Given the description of an element on the screen output the (x, y) to click on. 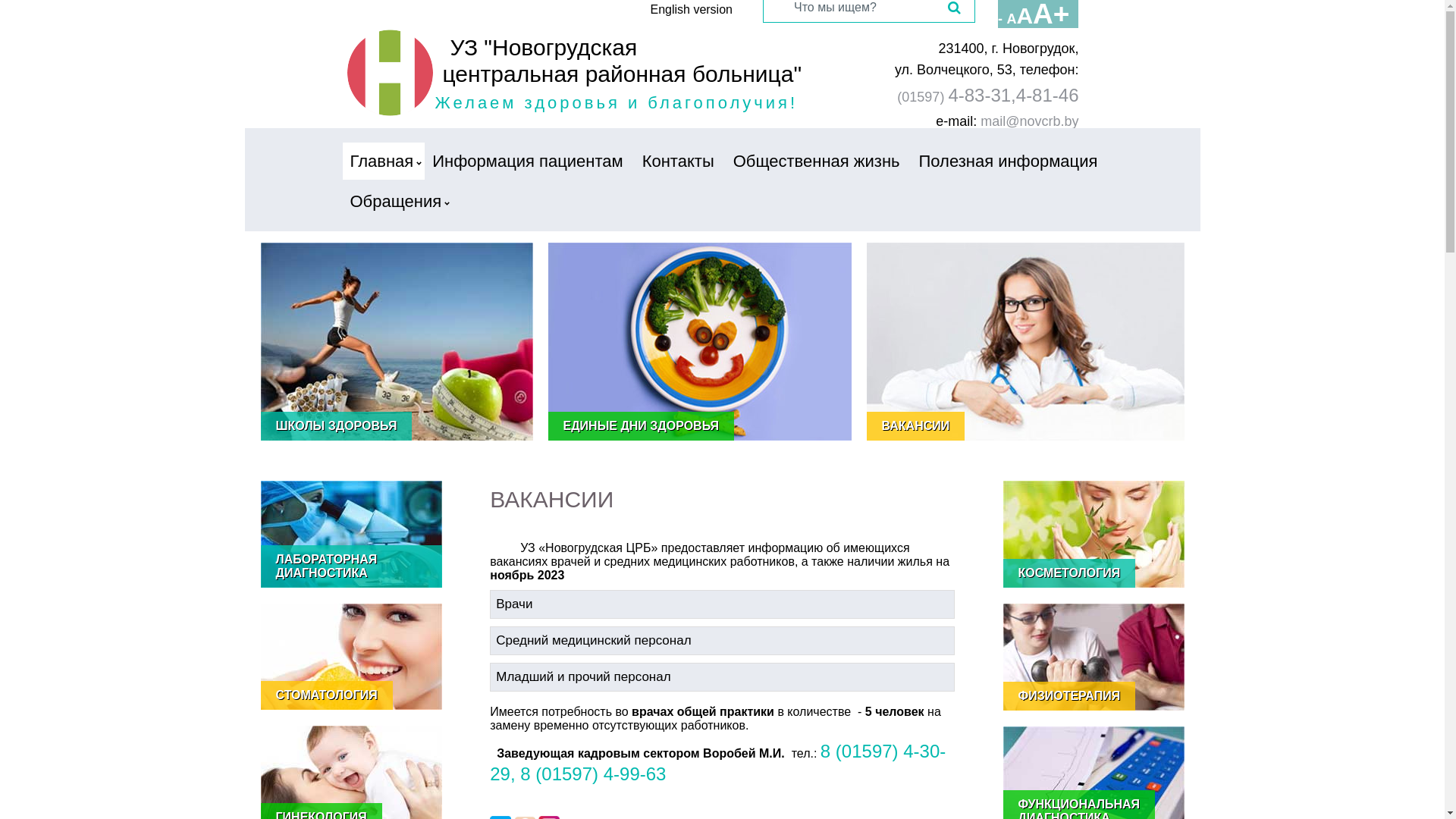
English version Element type: text (690, 9)
- Element type: text (1001, 18)
(01597) 4 Element type: text (927, 96)
AAA Element type: text (1029, 18)
+ Element type: text (1066, 18)
mail@novcrb.by Element type: text (1029, 120)
-83-31,4-81-46 Element type: text (1018, 94)
